Given the description of an element on the screen output the (x, y) to click on. 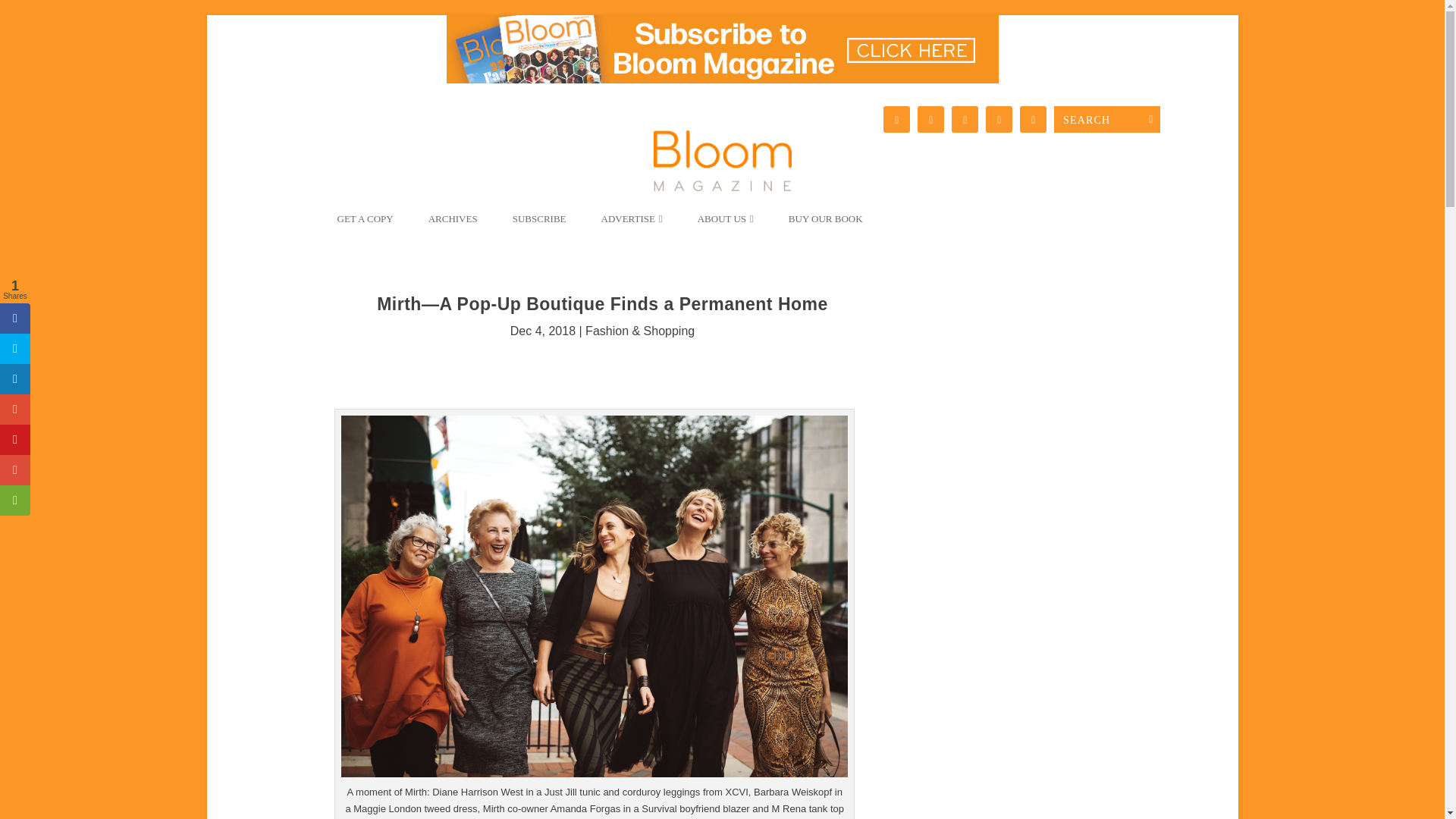
BUY OUR BOOK (826, 224)
ABOUT US (725, 224)
GET A COPY (364, 224)
ADVERTISE (631, 224)
ARCHIVES (452, 224)
SUBSCRIBE (539, 224)
